Given the description of an element on the screen output the (x, y) to click on. 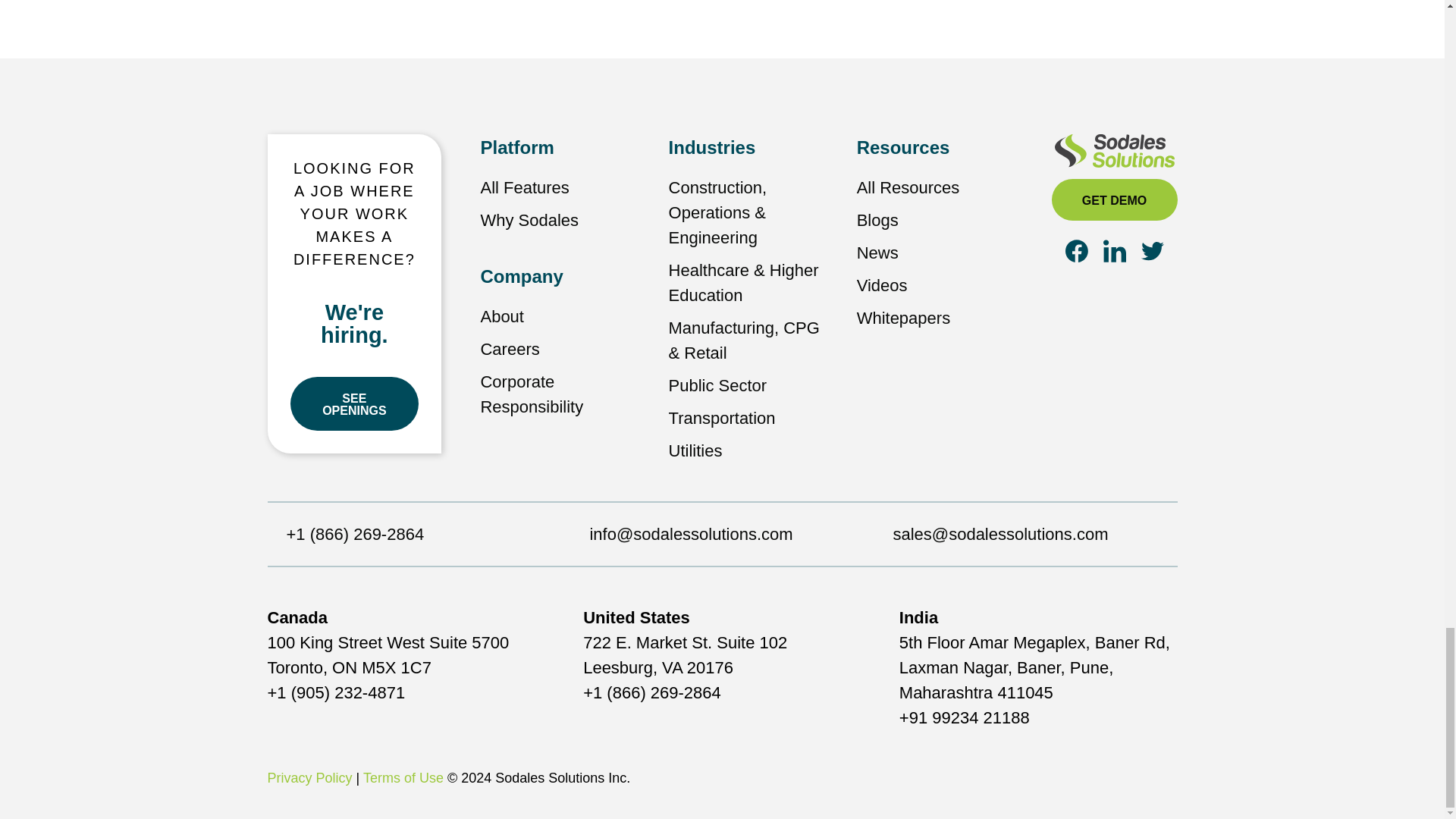
All Features (524, 187)
SEE OPENINGS (354, 403)
Careers (509, 348)
About (502, 316)
Corporate Responsibility (531, 394)
Why Sodales (529, 220)
